Given the description of an element on the screen output the (x, y) to click on. 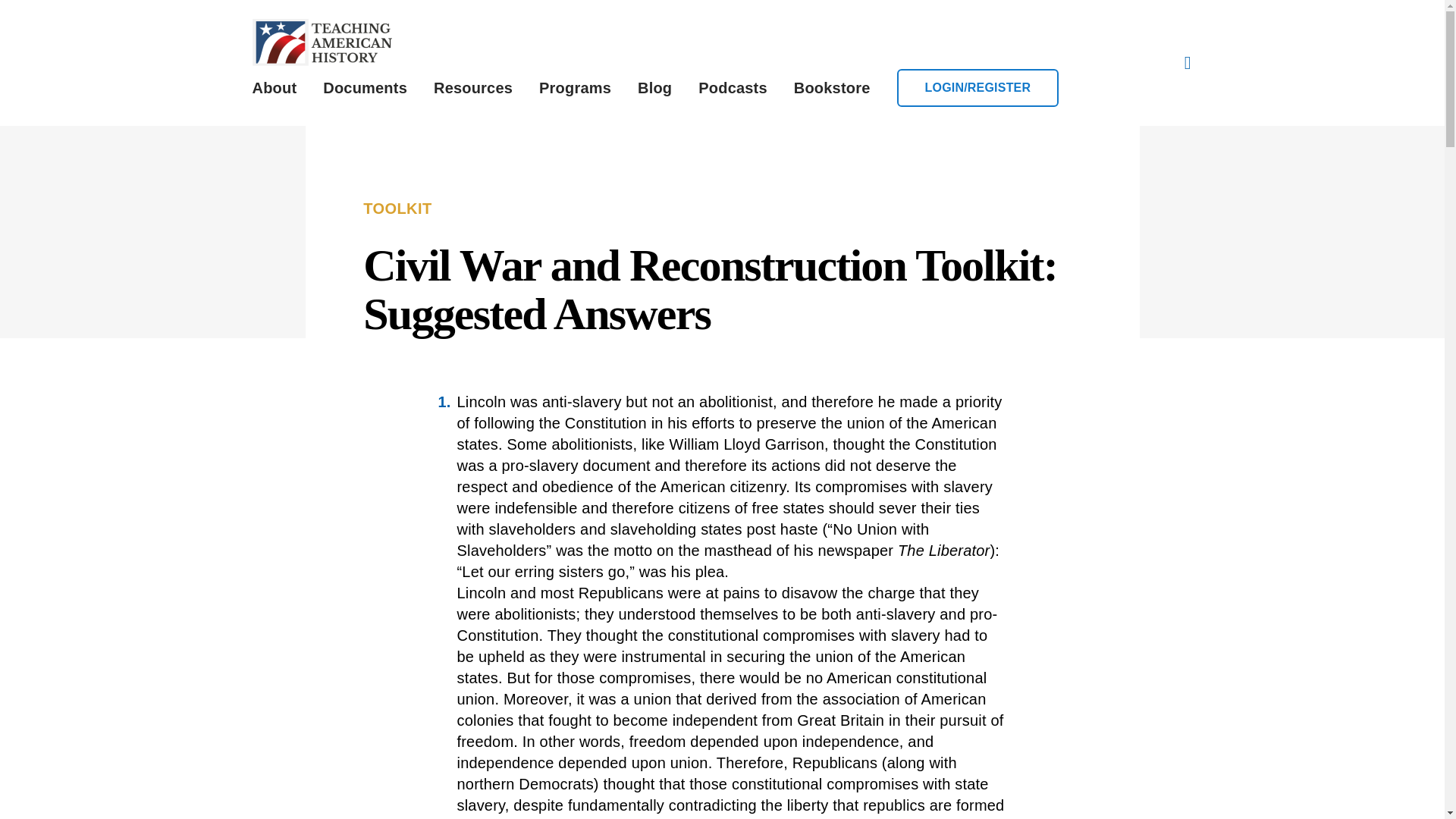
Bookstore (831, 87)
Blog (654, 87)
Programs (574, 87)
Documents (365, 87)
Resources (472, 87)
TOOLKIT (396, 208)
Podcasts (732, 87)
About (274, 87)
